Given the description of an element on the screen output the (x, y) to click on. 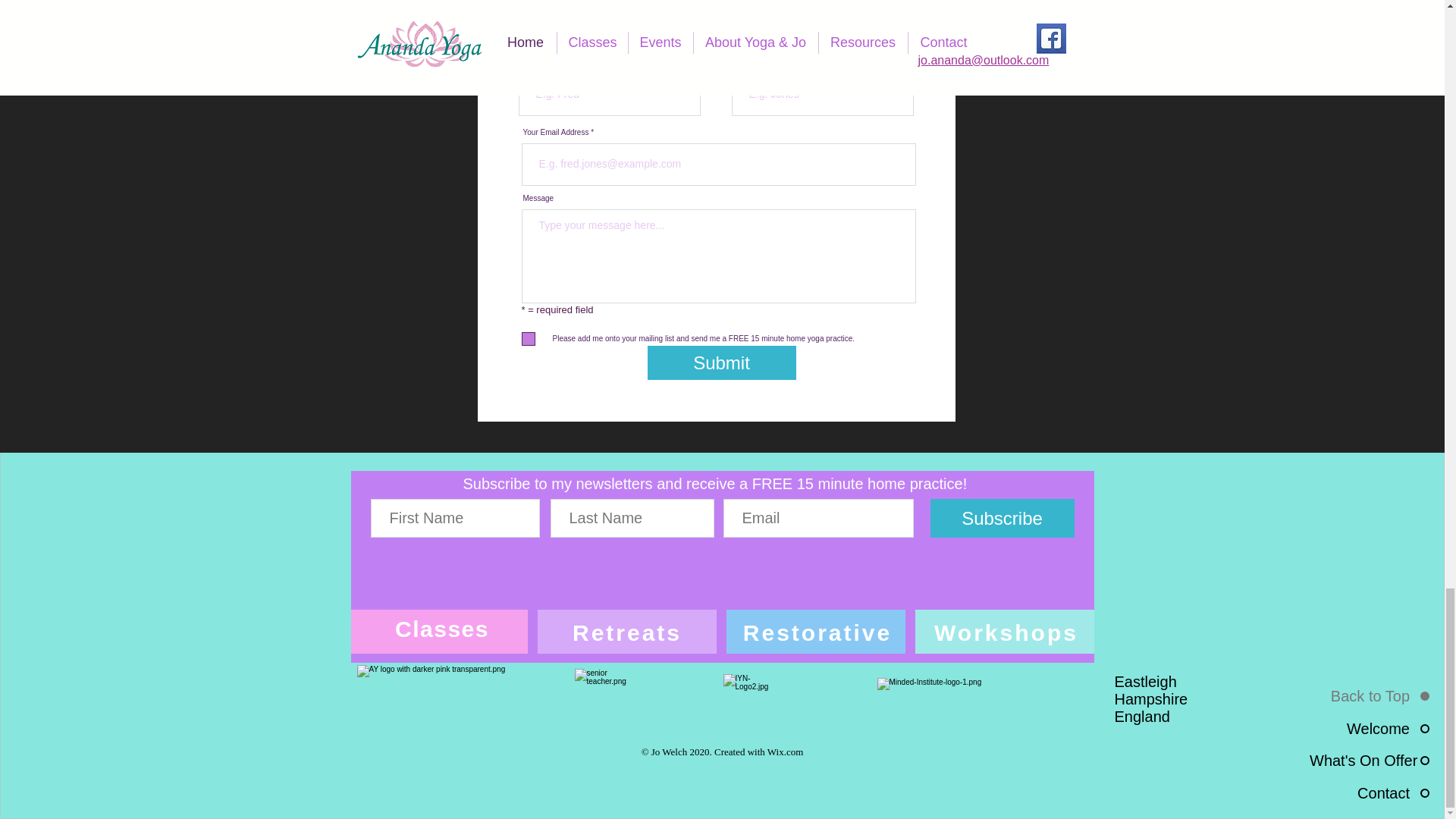
Submit (721, 362)
